Given the description of an element on the screen output the (x, y) to click on. 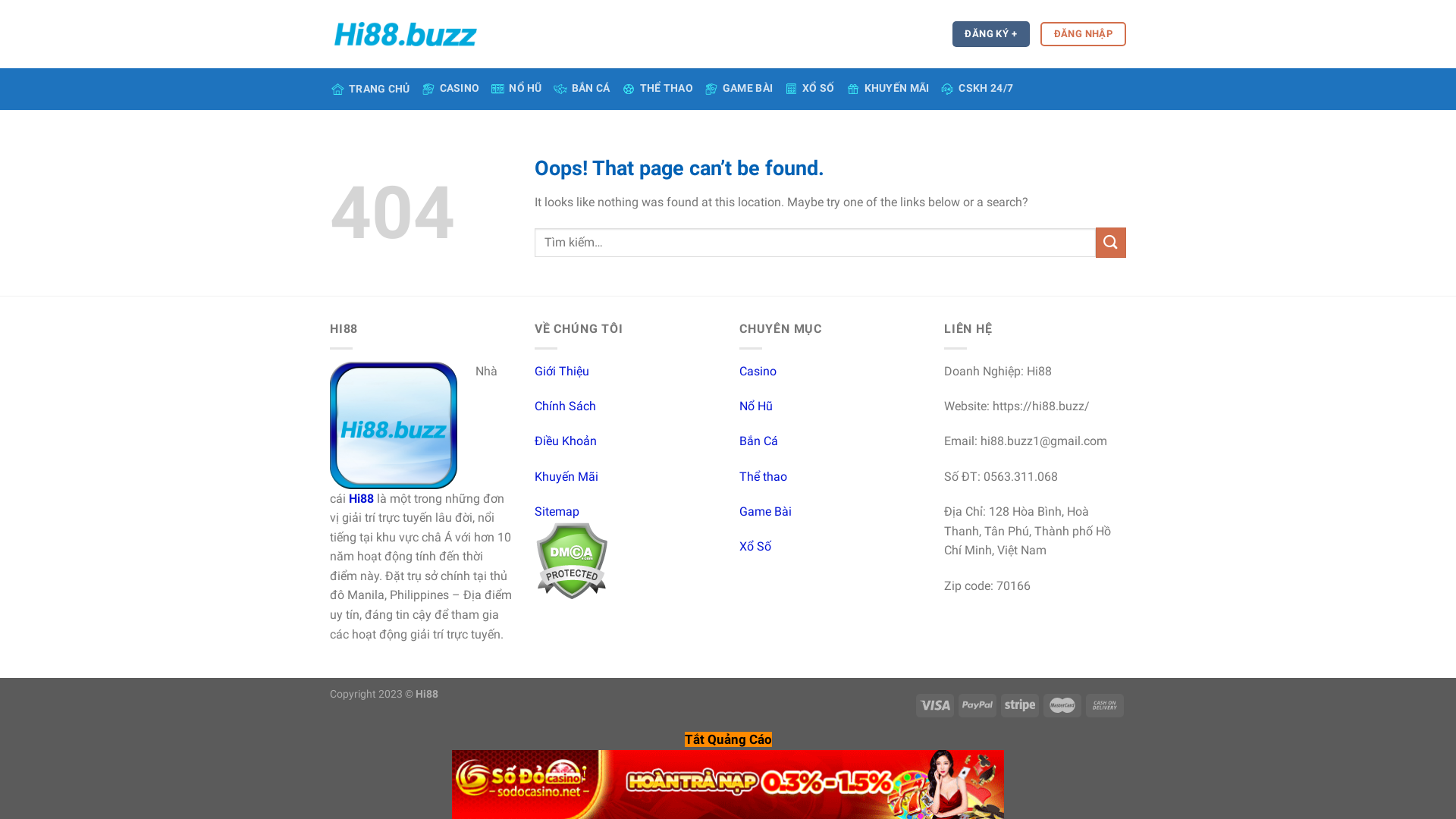
hi88 Element type: hover (405, 33)
Hi88  Element type: text (362, 498)
Casino Element type: text (757, 371)
DMCA.com Protection Status Element type: hover (571, 559)
CSKH 24/7 Element type: text (976, 89)
CASINO Element type: text (450, 89)
Sitemap Element type: text (556, 511)
